Given the description of an element on the screen output the (x, y) to click on. 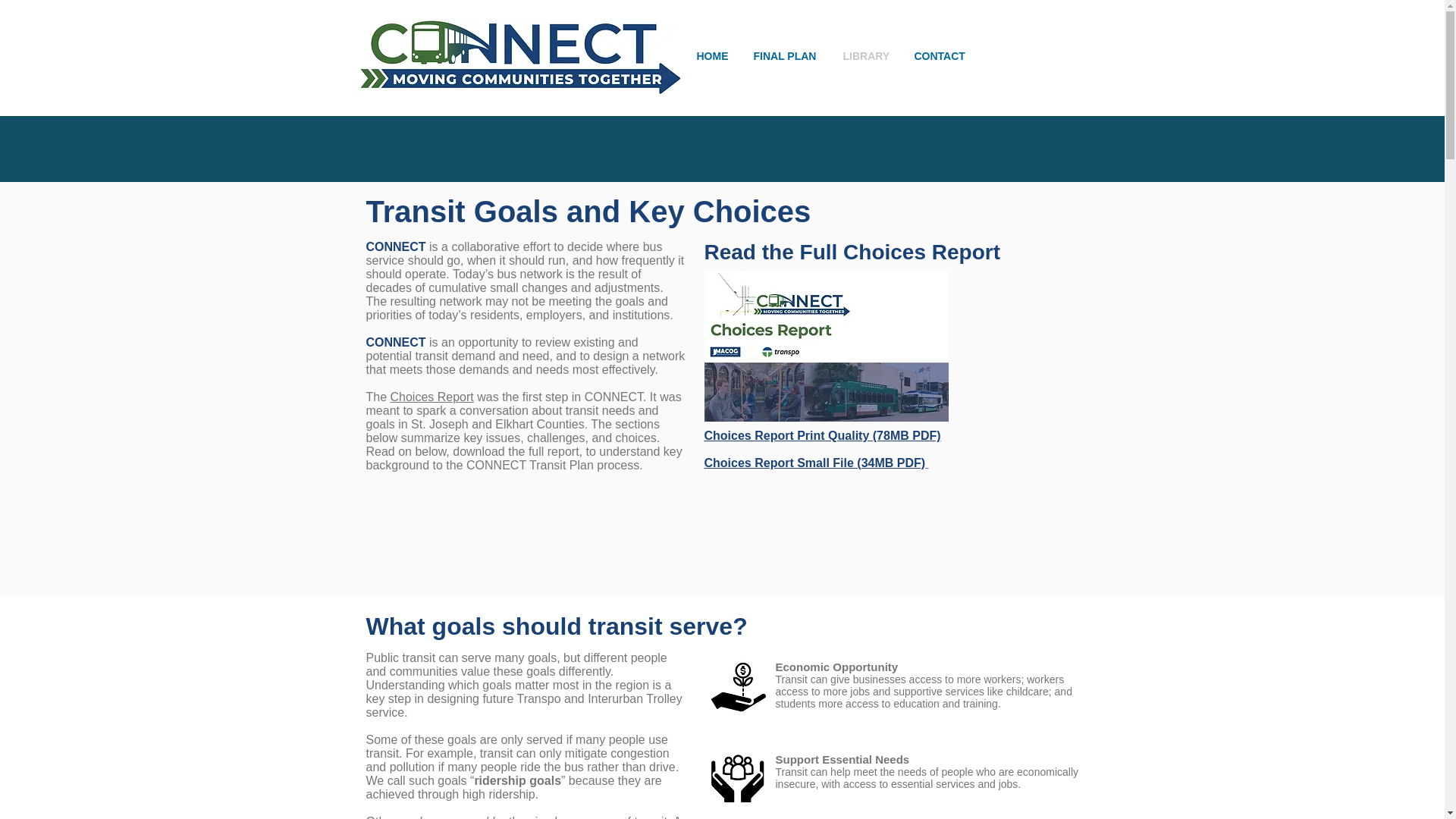
CONTACT (940, 55)
HOME (713, 55)
FINAL PLAN (786, 55)
Choices Report Cover Page (825, 346)
Choices Report (432, 396)
LIBRARY (866, 55)
